Given the description of an element on the screen output the (x, y) to click on. 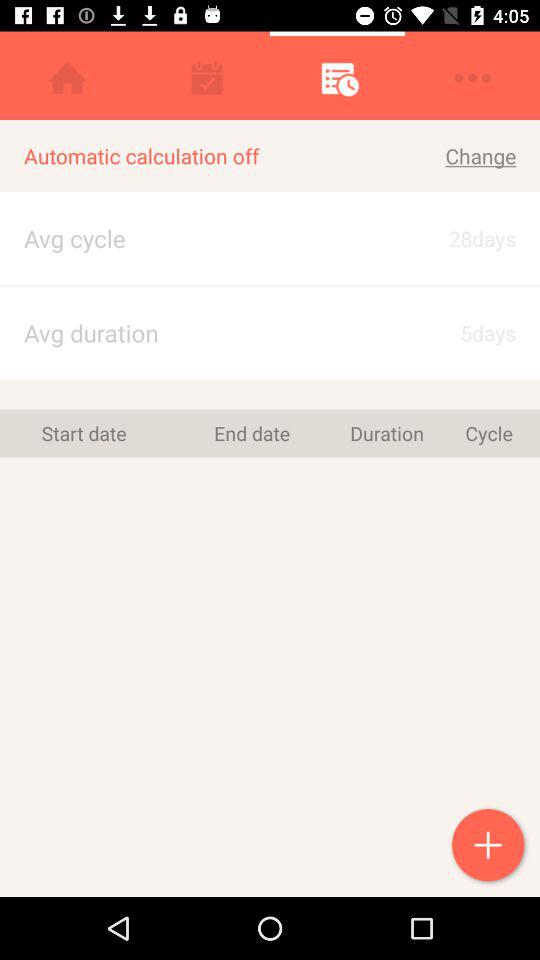
add menstrual cycle (490, 847)
